Given the description of an element on the screen output the (x, y) to click on. 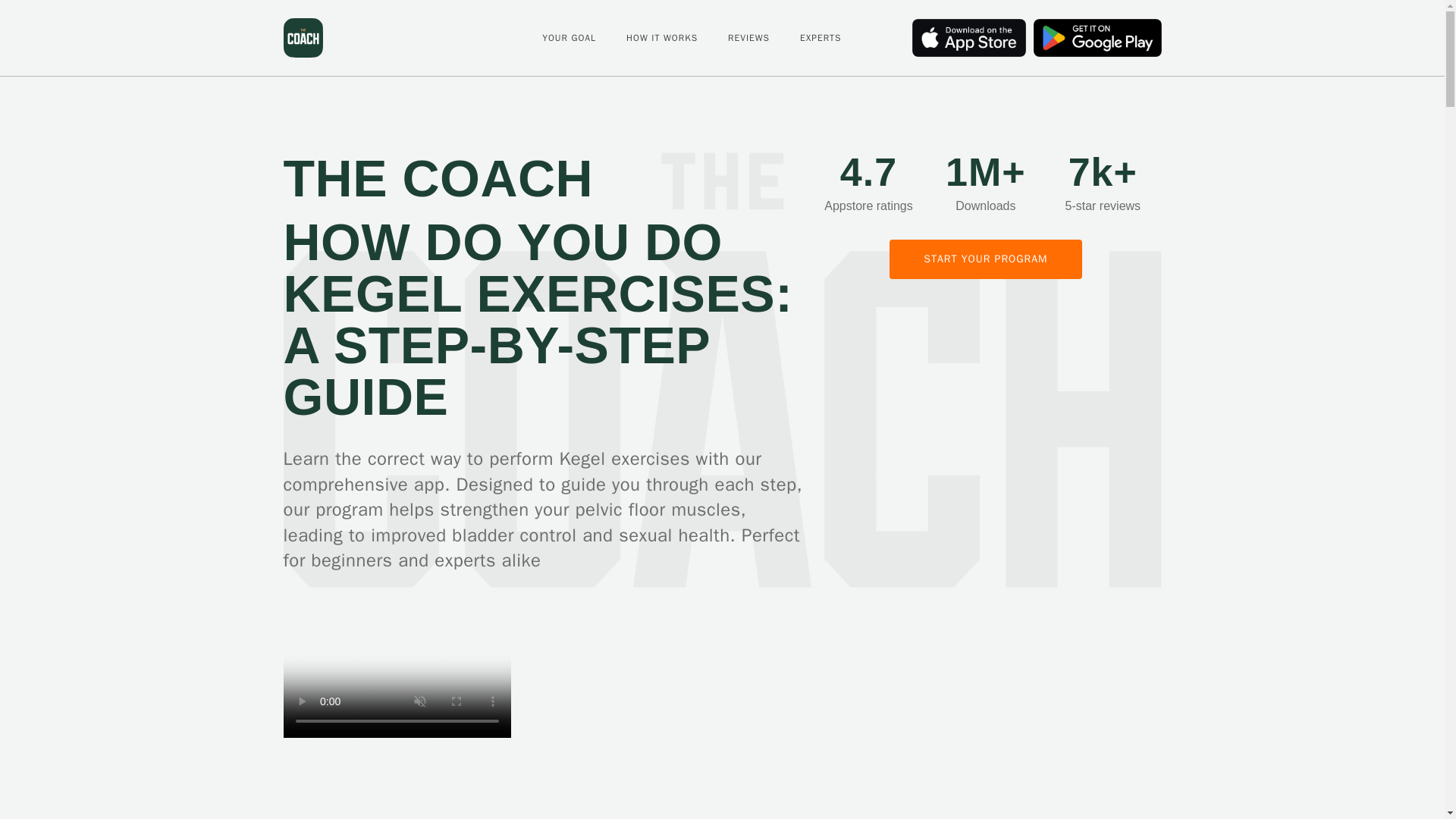
START YOUR PROGRAM (985, 259)
